Given the description of an element on the screen output the (x, y) to click on. 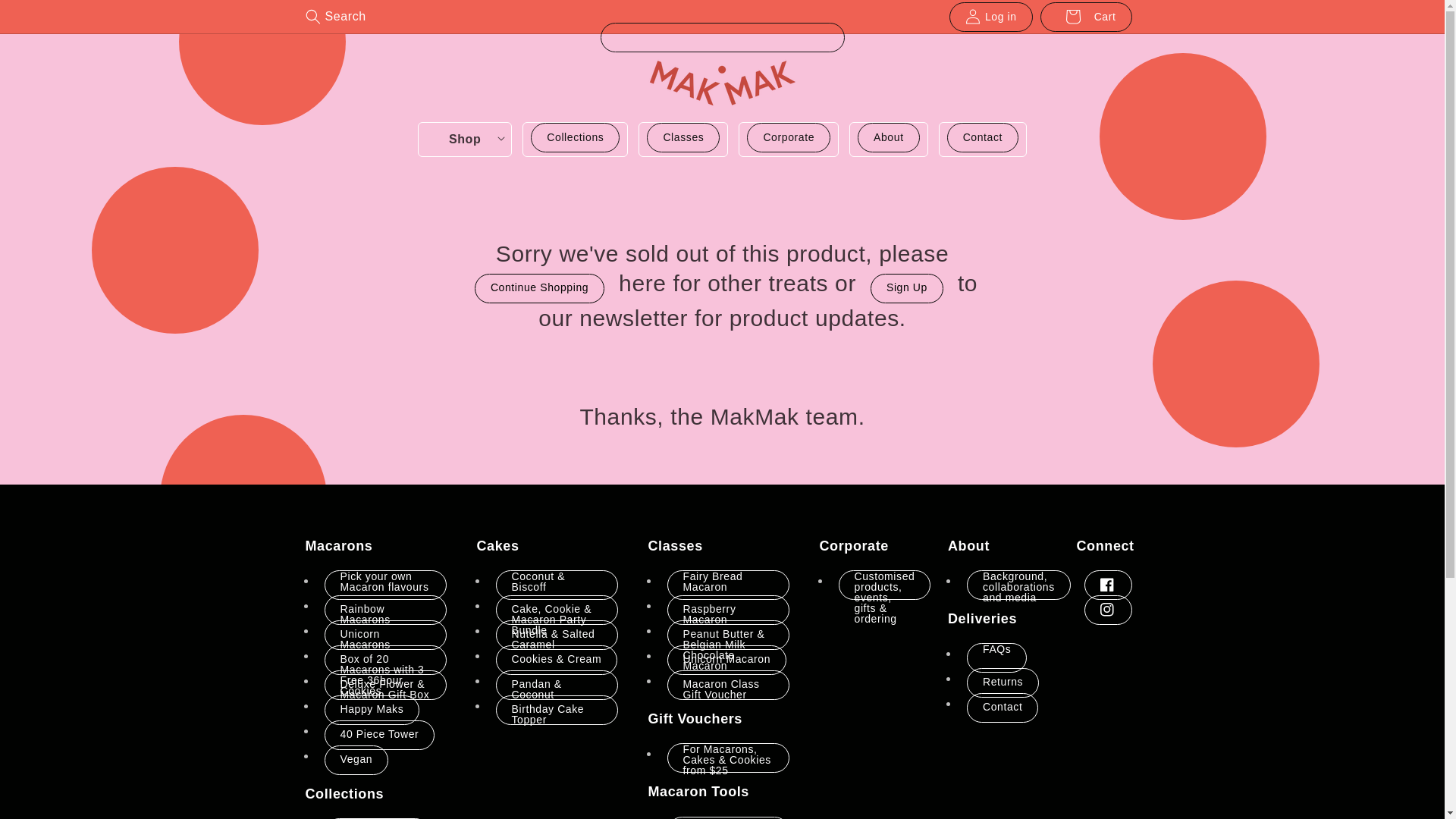
Deluxe Flower & Macaron Gift Box Element type: text (385, 684)
Rainbow Macarons Element type: text (385, 609)
Background, collaborations and media Element type: text (1018, 584)
Sign Up Element type: text (906, 288)
Customised products, events, gifts & ordering Element type: text (884, 584)
Cart Element type: text (1086, 16)
Classes Element type: text (682, 137)
Coconut & Biscoff Element type: text (556, 584)
Nutella & Salted Caramel Element type: text (556, 634)
Unicorn Macaron Element type: text (727, 659)
Contact Element type: text (982, 137)
Cake, Cookie & Macaron Party Bundle Element type: text (556, 609)
Fairy Bread Macaron Element type: text (728, 584)
Peanut Butter & Belgian Milk Chocolate Macaron Element type: text (728, 634)
Continue Shopping Element type: text (539, 288)
Raspberry Macaron Element type: text (728, 609)
Birthday Cake Topper Element type: text (556, 709)
Shop Element type: text (464, 139)
Pandan & Coconut Element type: text (556, 684)
Corporate Element type: text (788, 137)
Macaron Class Gift Voucher Element type: text (728, 684)
Log in Element type: text (990, 16)
Facebook Element type: text (1108, 584)
For Macarons, Cakes & Cookies from $25 Element type: text (728, 757)
Happy Maks Element type: text (372, 709)
40 Piece Tower Element type: text (379, 734)
Unicorn Macarons Element type: text (385, 634)
Instagram Element type: text (1108, 609)
Returns Element type: text (1002, 682)
Pick your own Macaron flavours Element type: text (385, 584)
Contact Element type: text (1002, 707)
Collections Element type: text (574, 137)
FAQs Element type: text (996, 657)
About Element type: text (888, 137)
Box of 20 Macarons with 3 Free 36hour Cookies Element type: text (385, 659)
Vegan Element type: text (356, 760)
Cookies & Cream Element type: text (556, 659)
